Given the description of an element on the screen output the (x, y) to click on. 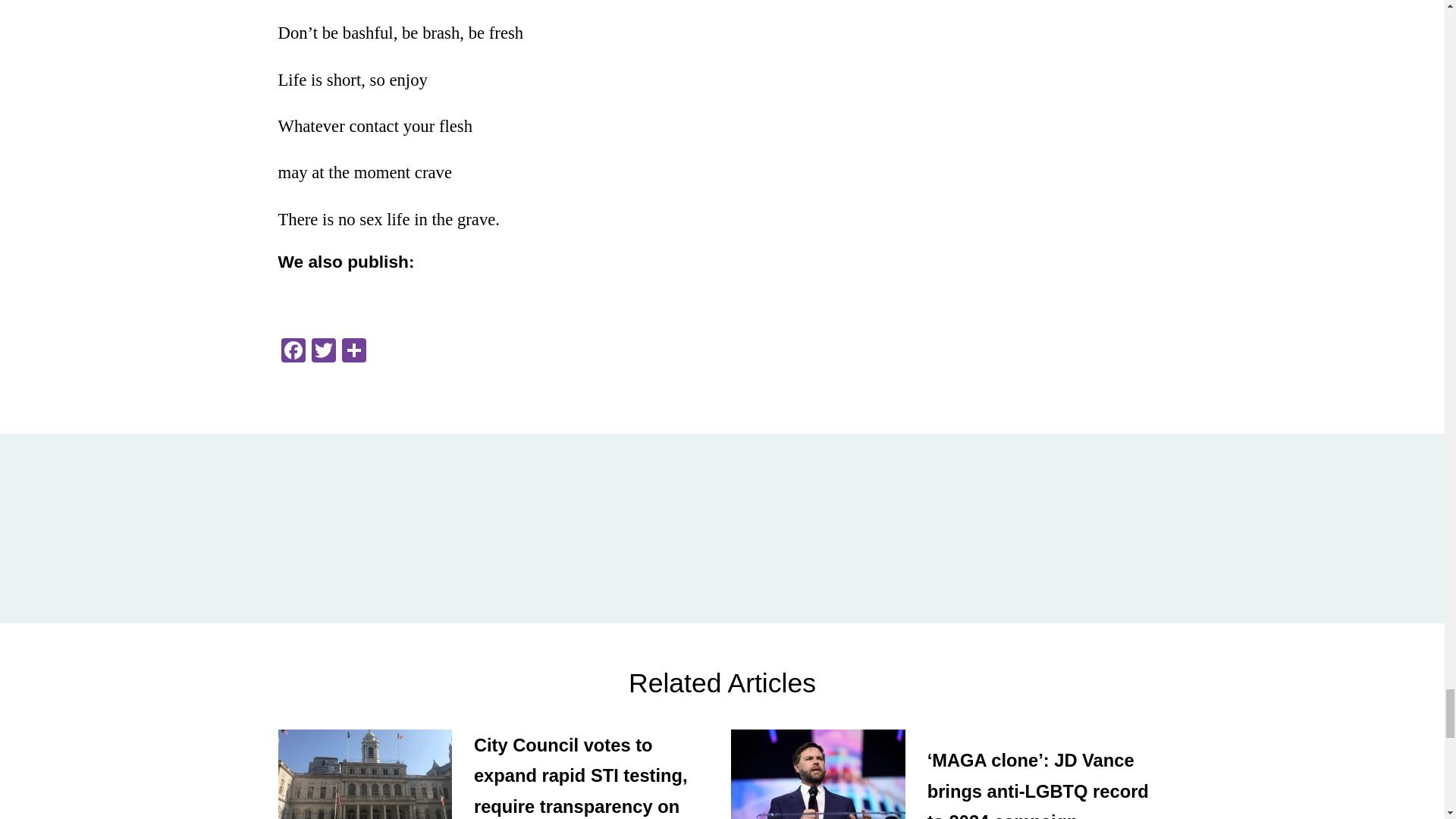
Facebook (292, 352)
